Given the description of an element on the screen output the (x, y) to click on. 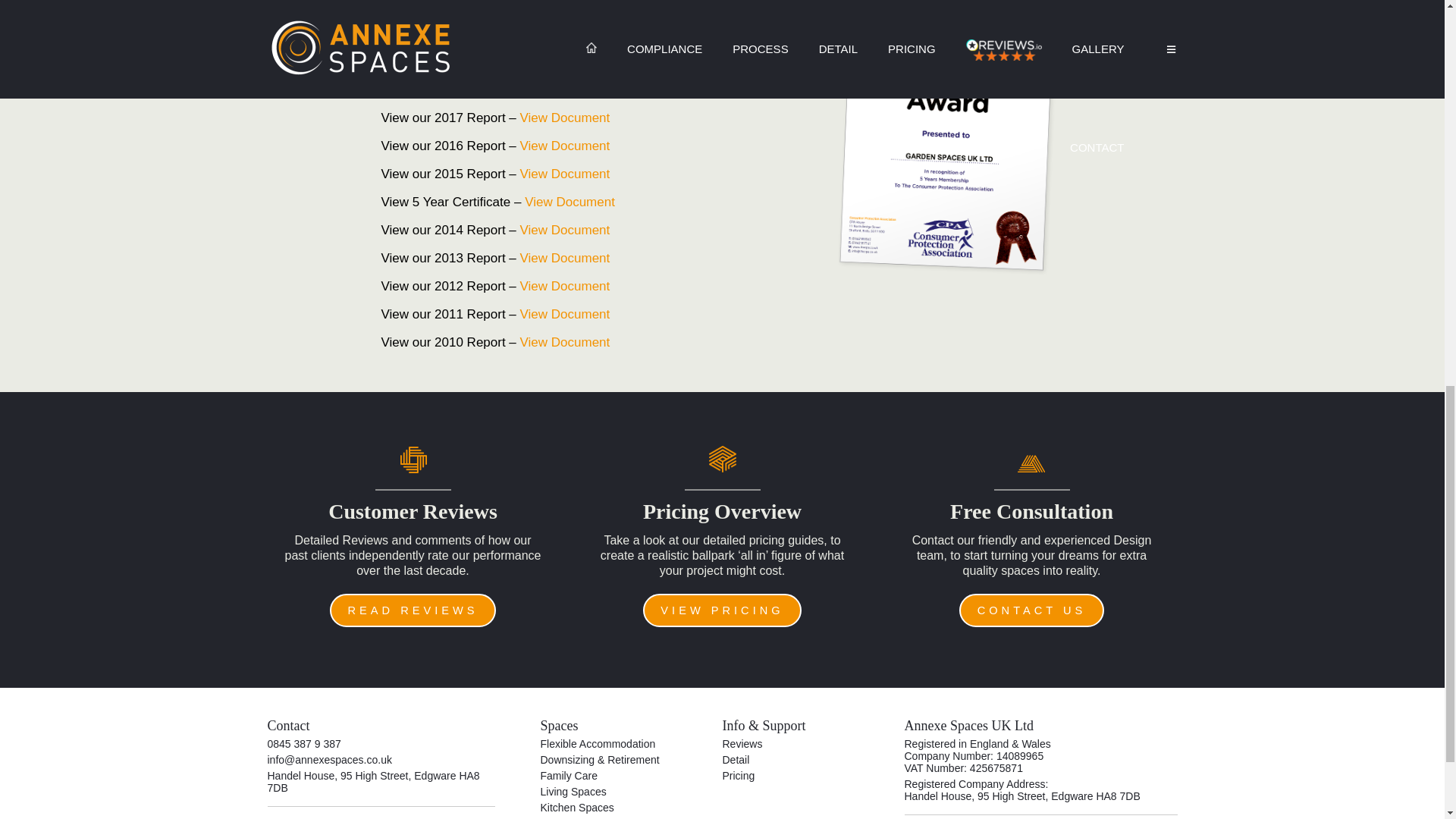
View Document (569, 201)
View Document (564, 341)
View Document (564, 257)
View Document (564, 286)
View Document (564, 229)
View Document (564, 117)
View Document (564, 173)
View Document (564, 145)
